Given the description of an element on the screen output the (x, y) to click on. 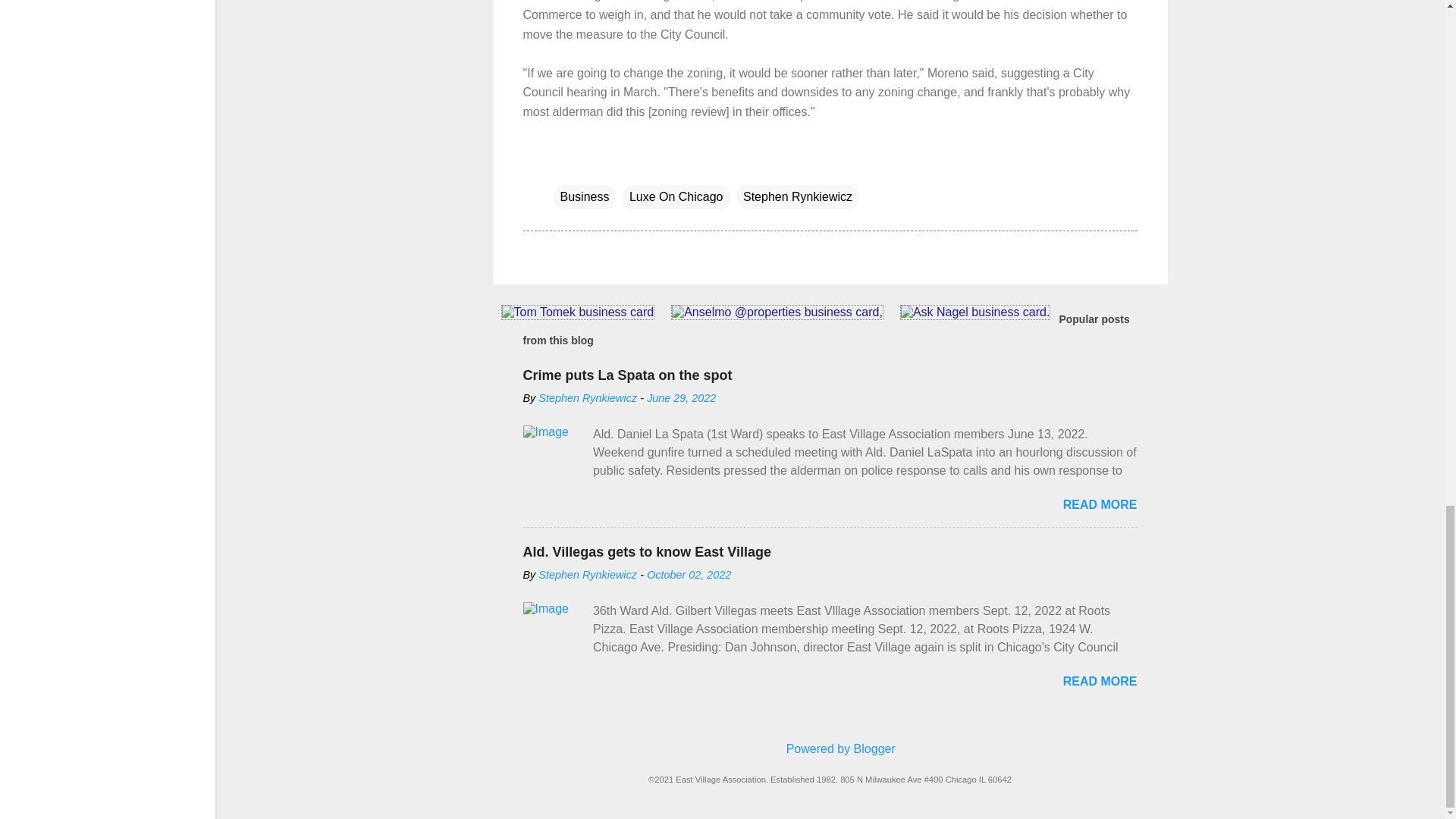
Powered by Blogger (829, 748)
READ MORE (1099, 503)
Luxe On Chicago (676, 197)
Email Post (562, 164)
Business (584, 197)
Ald. Villegas gets to know East Village (646, 551)
Stephen Rynkiewicz (797, 197)
READ MORE (1099, 680)
October 02, 2022 (688, 574)
Crime puts La Spata on the spot (627, 374)
Stephen Rynkiewicz (587, 397)
Stephen Rynkiewicz (587, 574)
June 29, 2022 (681, 397)
